Given the description of an element on the screen output the (x, y) to click on. 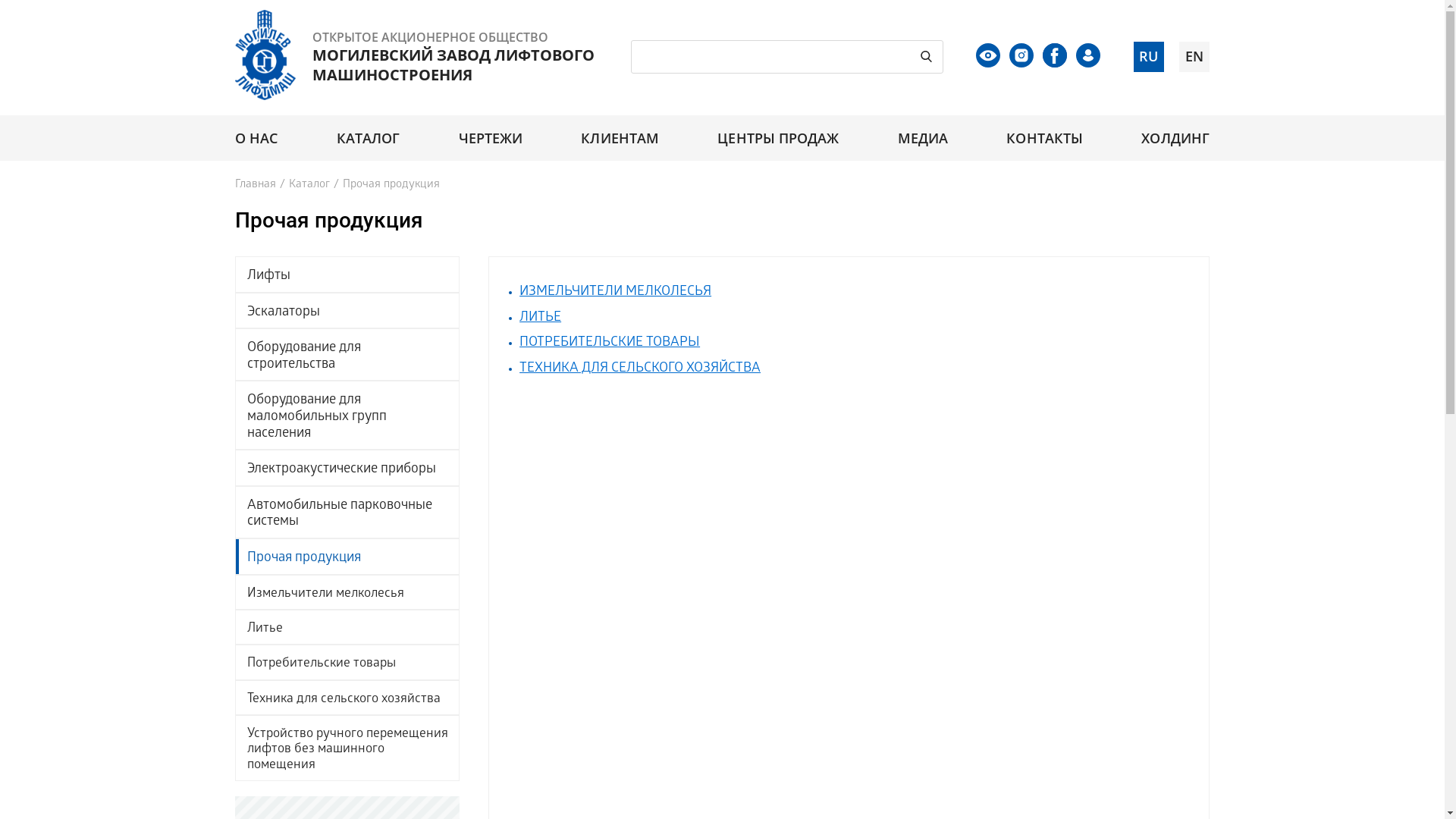
EN Element type: text (1194, 56)
RU Element type: text (1148, 56)
